Given the description of an element on the screen output the (x, y) to click on. 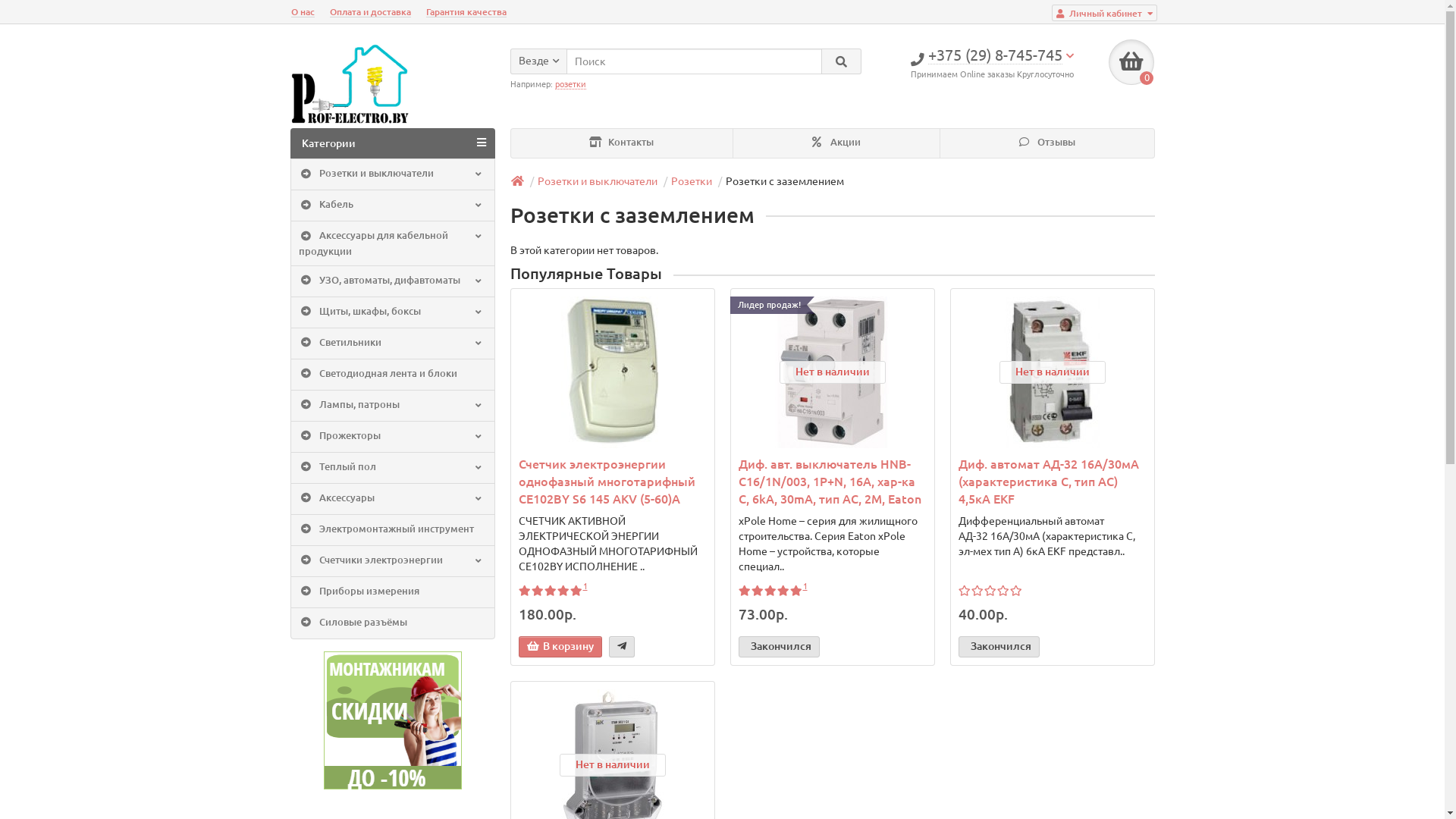
Prof-Electro.by Element type: hover (348, 85)
1 Element type: text (804, 585)
0 Element type: text (1131, 61)
1 Element type: text (584, 585)
